Given the description of an element on the screen output the (x, y) to click on. 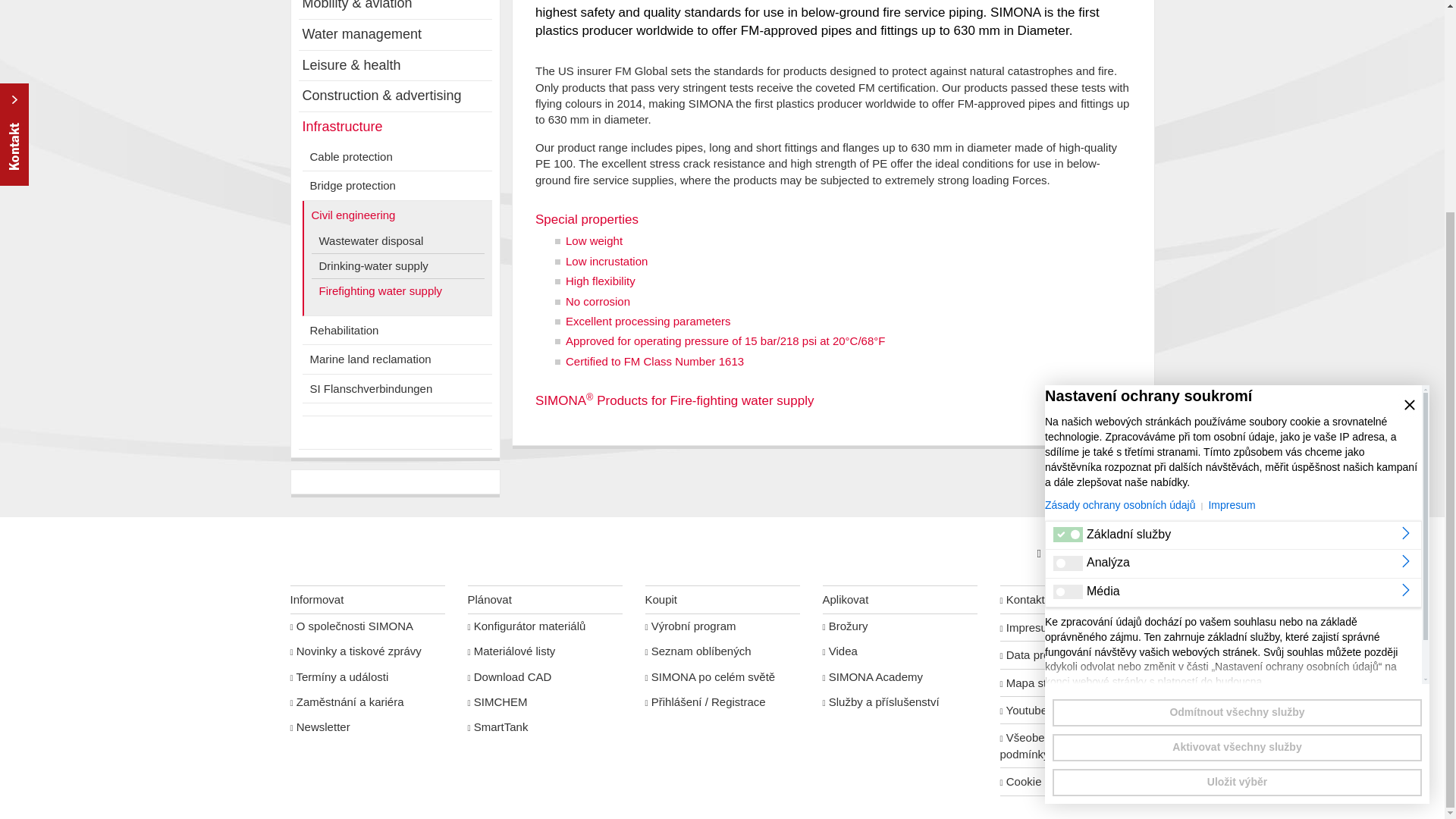
on (1067, 286)
on (1067, 257)
on (1067, 314)
